Given the description of an element on the screen output the (x, y) to click on. 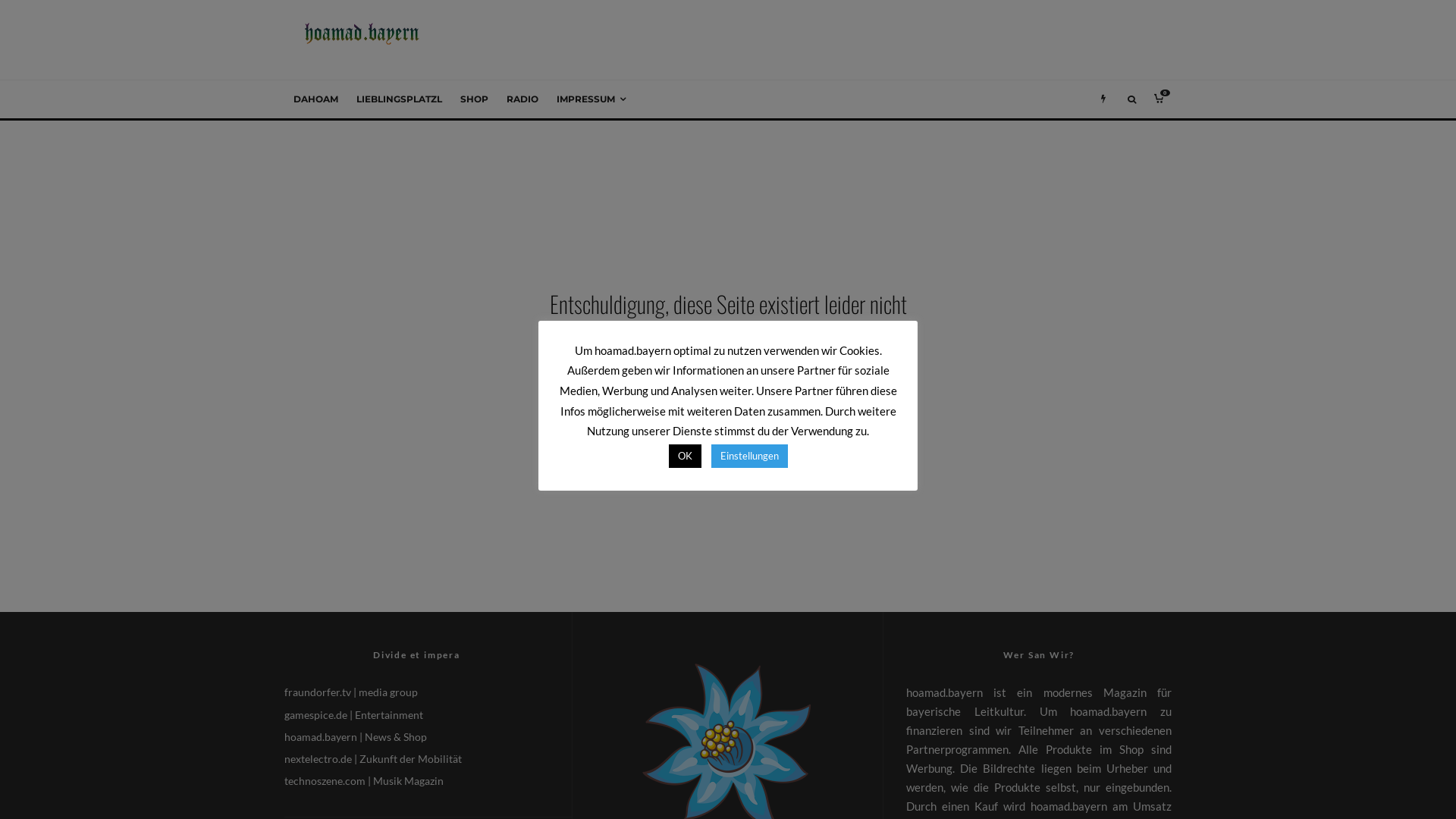
hoamad.bayern Element type: text (320, 736)
Einstellungen Element type: text (749, 455)
0 Element type: text (1158, 99)
IMPRESSUM Element type: text (592, 99)
technoszene.com Element type: text (324, 780)
LIEBLINGSPLATZL Element type: text (399, 99)
SHOP Element type: text (474, 99)
gamespice.de Element type: text (315, 714)
nextelectro.de Element type: text (317, 758)
DAHOAM Element type: text (315, 99)
RADIO Element type: text (522, 99)
fraundorfer.tv Element type: text (317, 691)
OK Element type: text (684, 455)
